Given the description of an element on the screen output the (x, y) to click on. 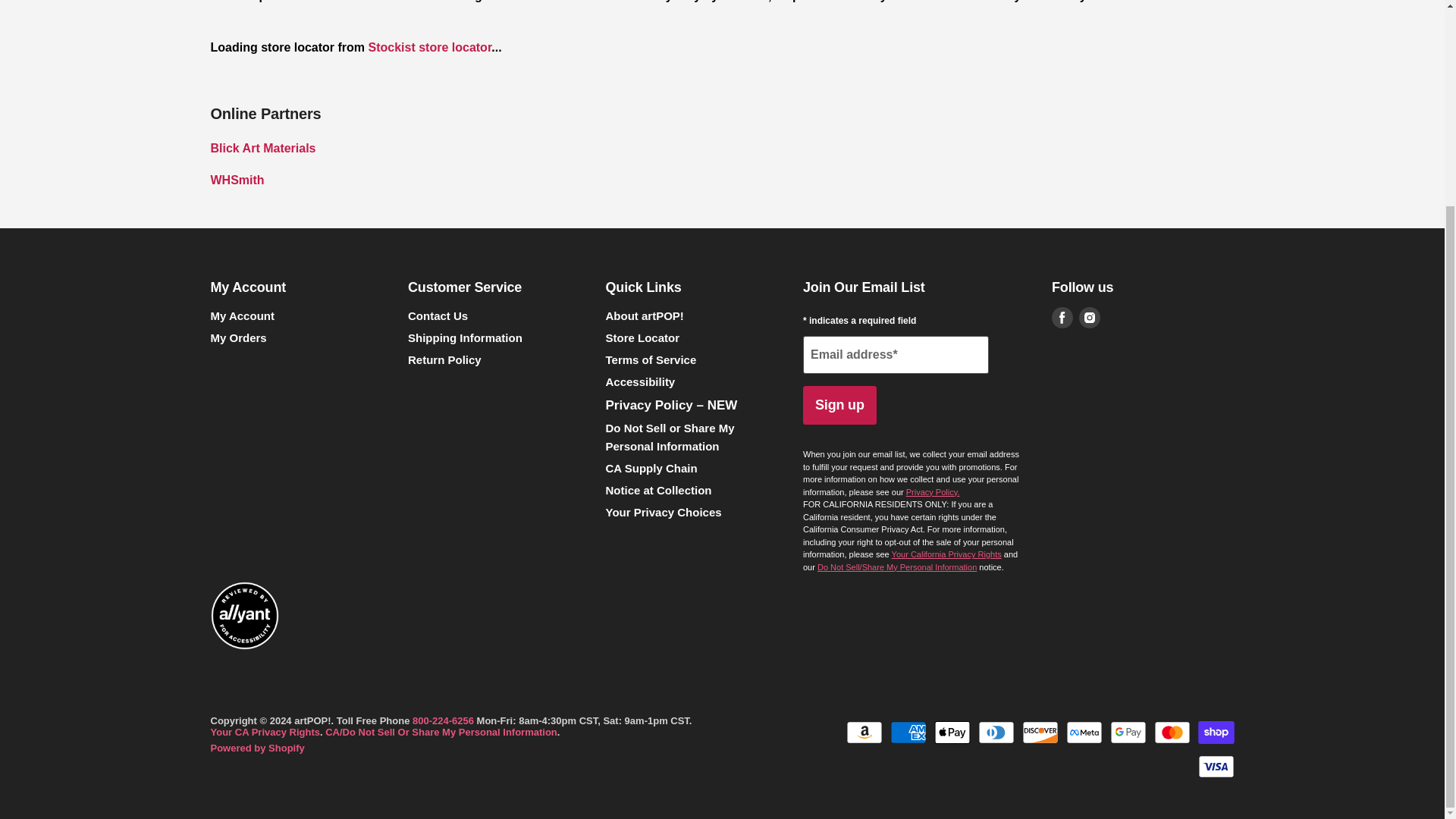
American Express (907, 732)
Privacy Policy (932, 491)
Apple Pay (952, 732)
Meta Pay (1083, 732)
Facebook (1062, 317)
Diners Club (996, 732)
Discover (1040, 732)
Amazon (863, 732)
Instagram (1089, 317)
